Given the description of an element on the screen output the (x, y) to click on. 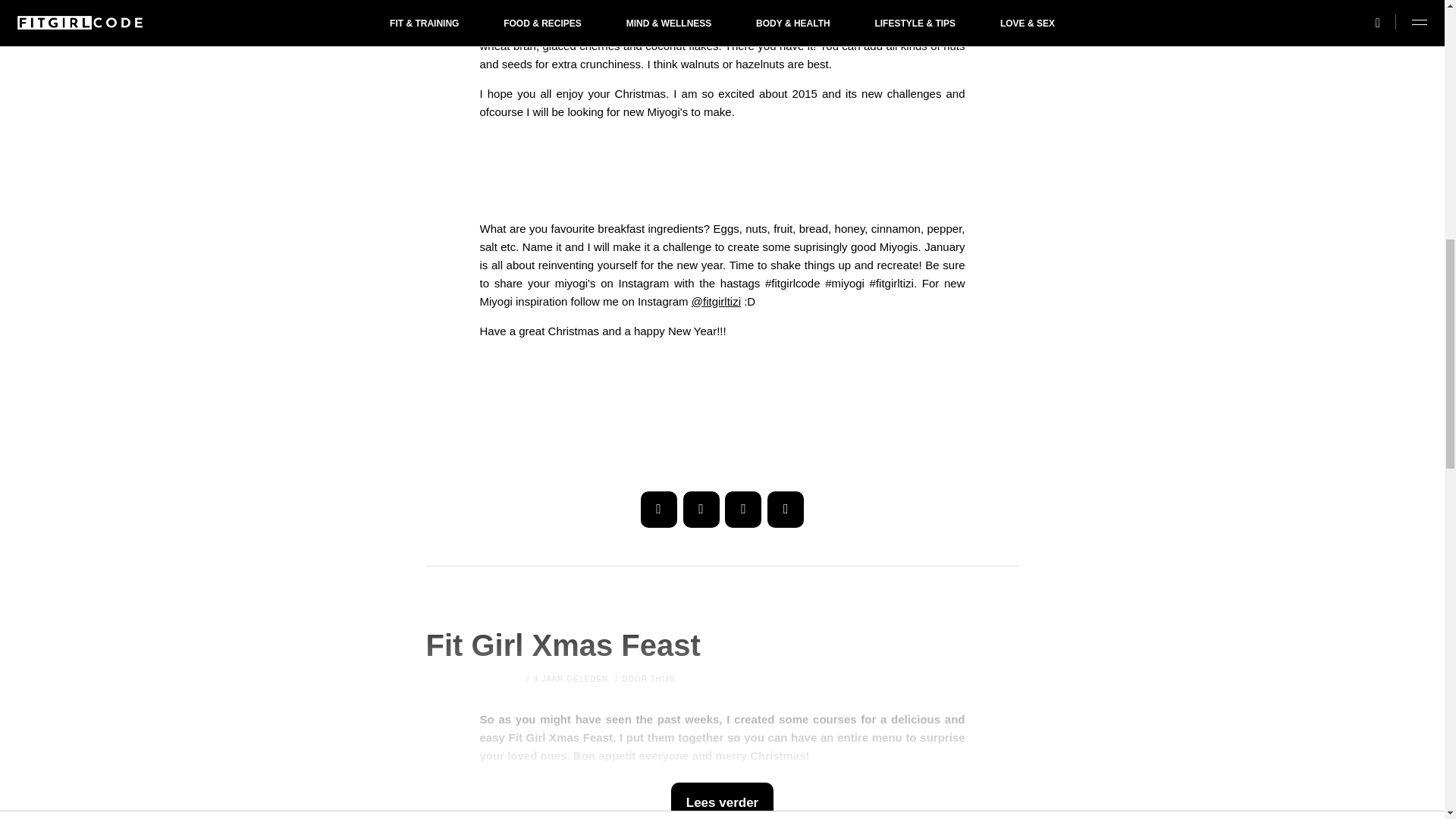
Tweet (700, 509)
THIJS (662, 678)
App (785, 509)
Pin (743, 509)
Dit artikel delen op Facebook (658, 509)
Lees verder (722, 800)
Delen (658, 509)
